Given the description of an element on the screen output the (x, y) to click on. 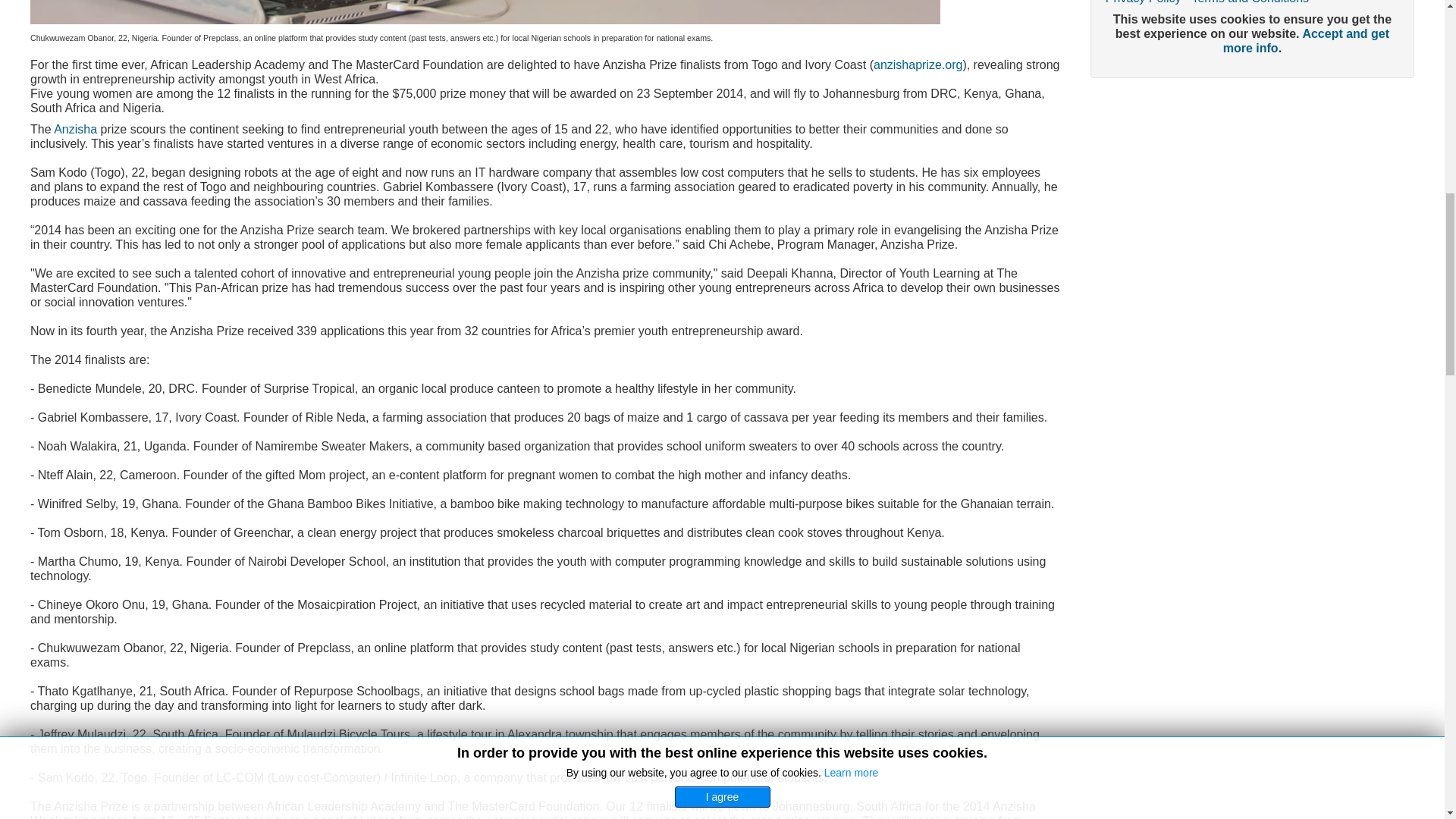
Anzisha (76, 128)
anzishaprize.org (917, 64)
